Given the description of an element on the screen output the (x, y) to click on. 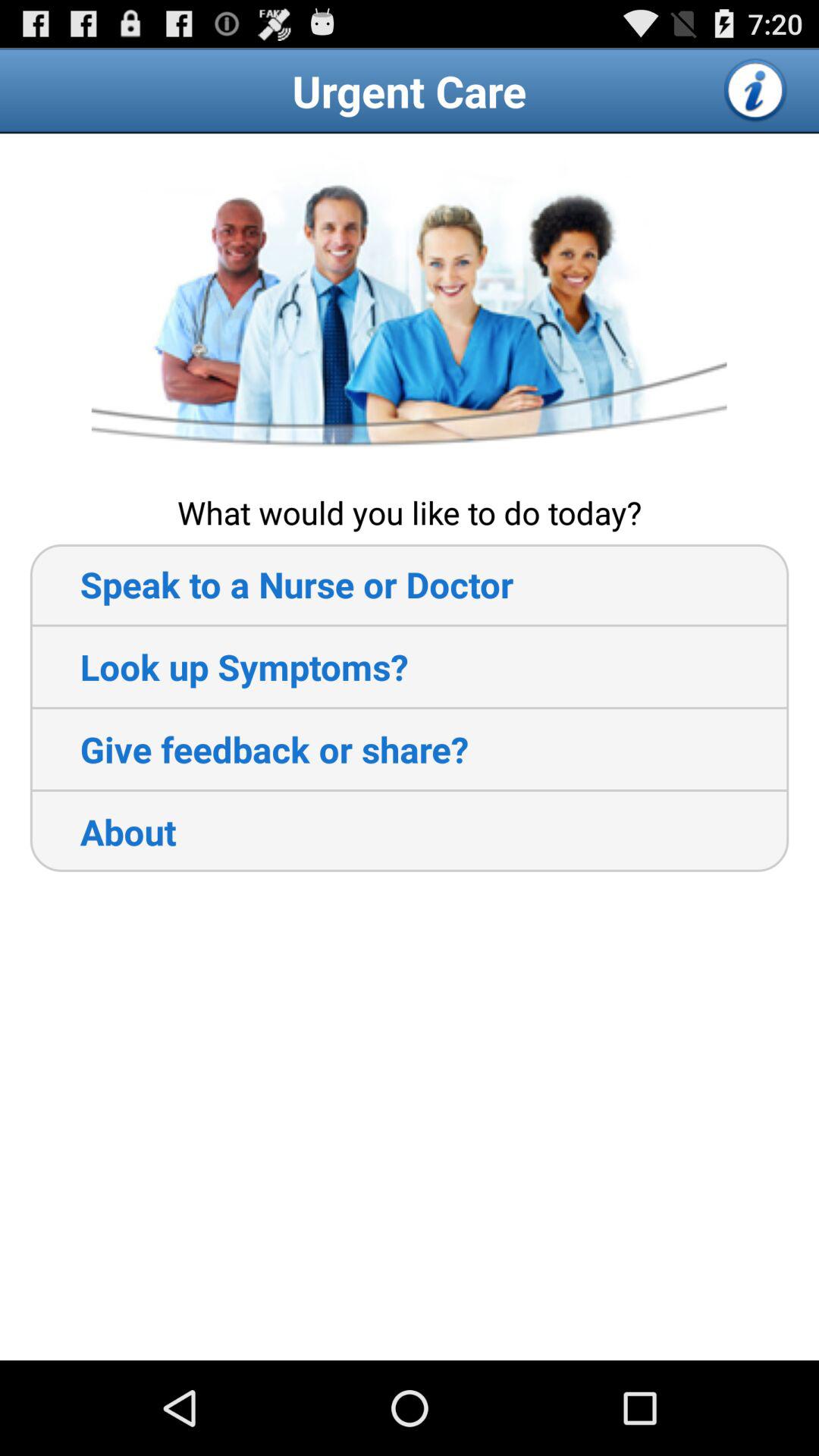
scroll to speak to a item (271, 584)
